Given the description of an element on the screen output the (x, y) to click on. 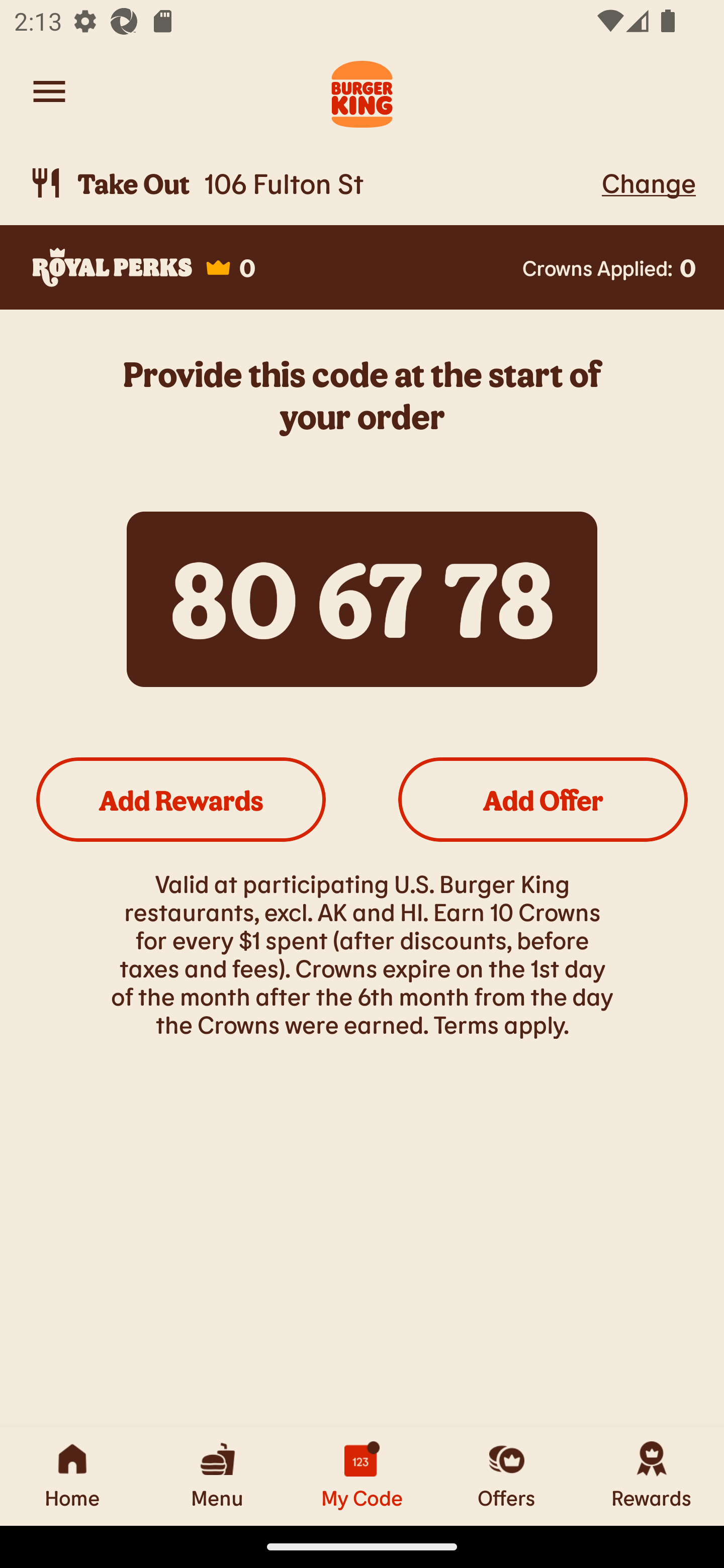
Burger King Logo. Navigate to Home (362, 91)
Navigate to account menu  (49, 91)
Take Out, 106 Fulton St  Take Out 106 Fulton St (311, 183)
Change (648, 182)
Add Rewards (180, 799)
Add Offer (542, 799)
Home (72, 1475)
Menu (216, 1475)
My Code (361, 1475)
Offers (506, 1475)
Rewards (651, 1475)
